Given the description of an element on the screen output the (x, y) to click on. 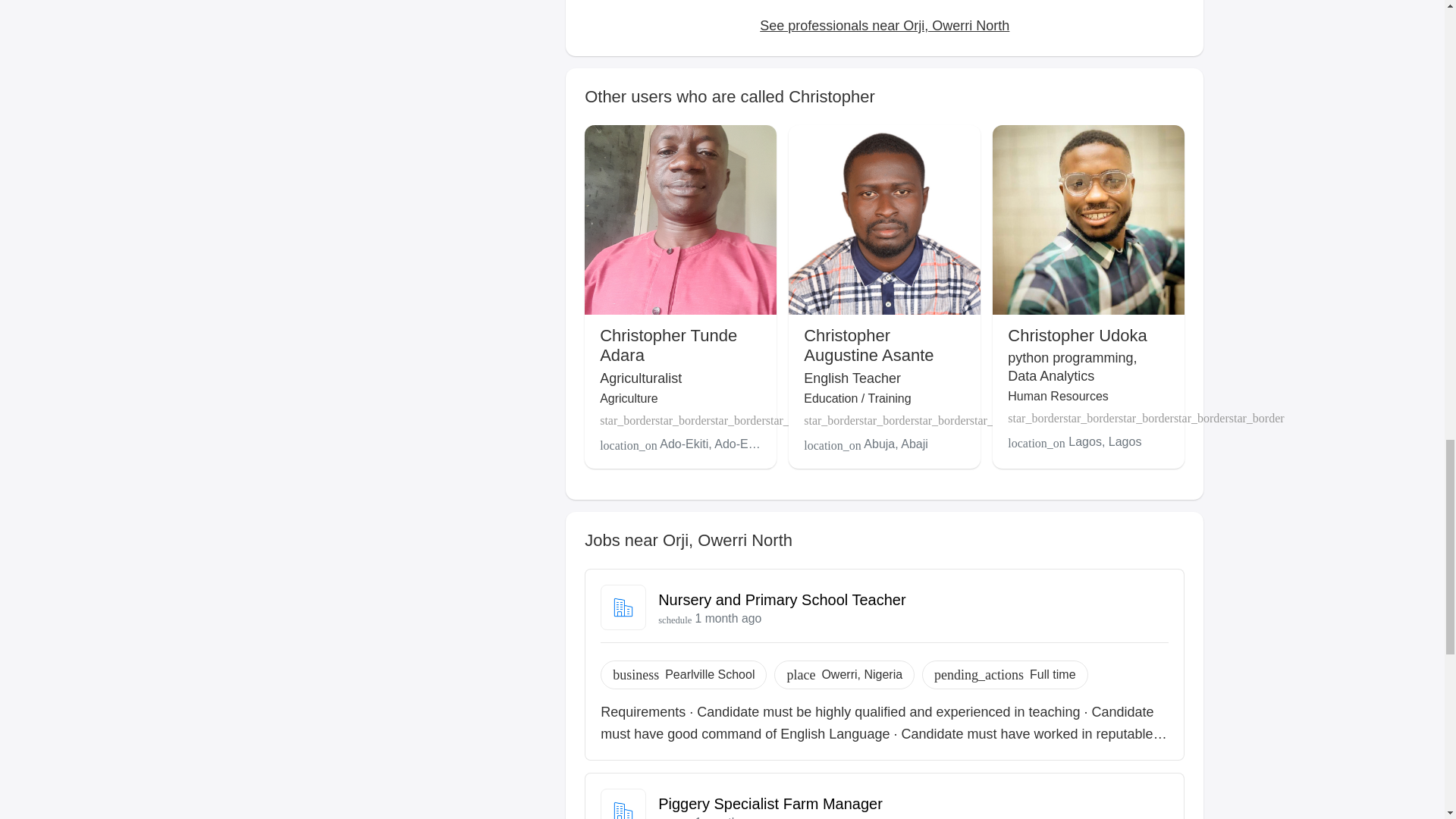
Christopher Udoka (1077, 334)
See professionals near Orji, Owerri North (884, 25)
Nursery and Primary School Teacher (781, 599)
Nursery and Primary School Teacher (781, 599)
Christopher Tunde Adara (667, 344)
Christopher Augustine Asante (868, 344)
Piggery Specialist Farm Manager (770, 803)
Piggery Specialist Farm Manager (770, 803)
Christopher Udoka (1077, 334)
Owerri, Nigeria (861, 674)
